Given the description of an element on the screen output the (x, y) to click on. 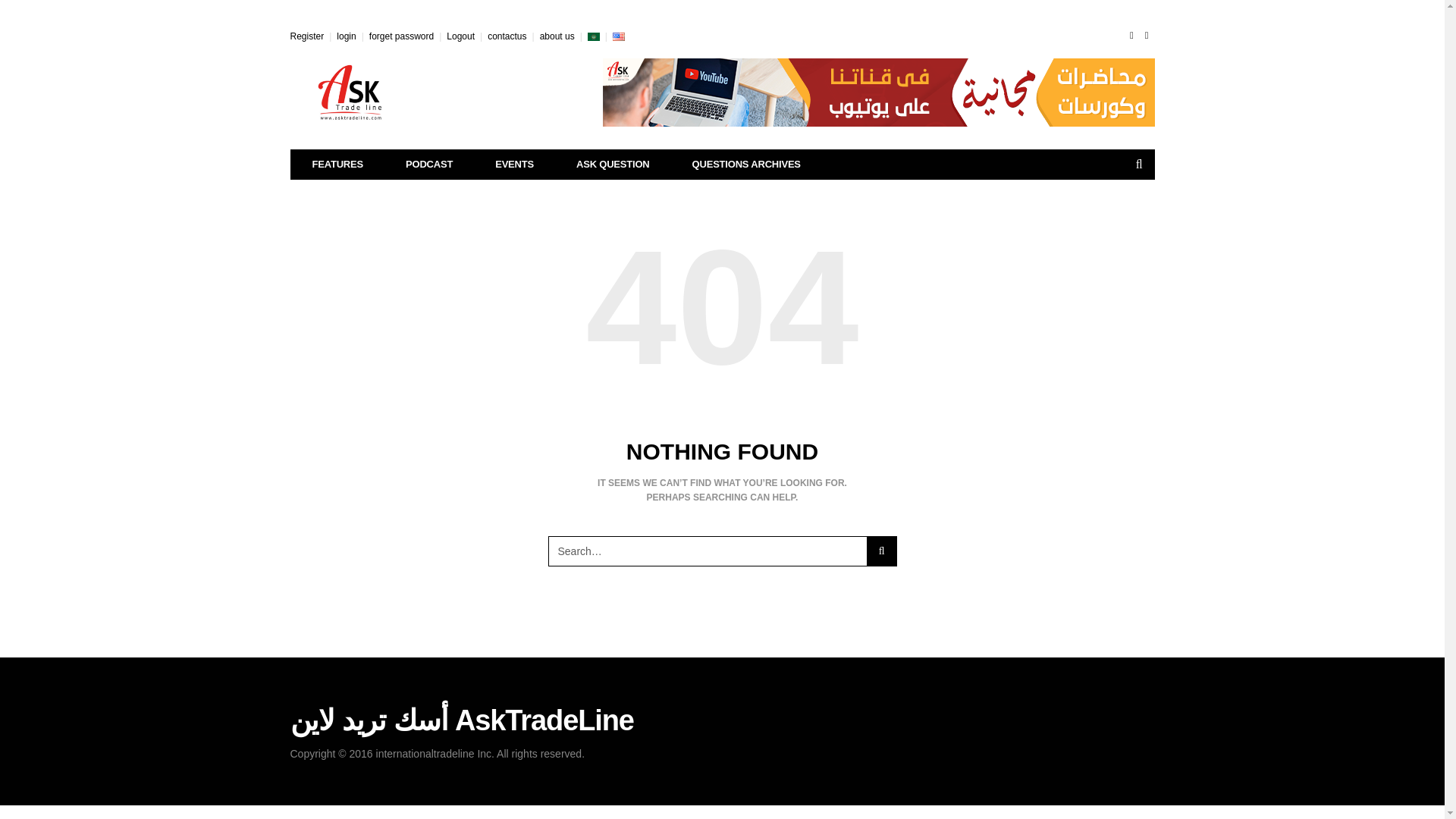
EVENTS (514, 164)
QUESTIONS ARCHIVES (746, 164)
PODCAST (429, 164)
English (618, 36)
contactus (506, 36)
forget password (401, 36)
Search for: (706, 551)
Logout (460, 36)
Register (306, 36)
login (345, 36)
FEATURES (338, 164)
ASK QUESTION (612, 164)
about us (557, 36)
